Given the description of an element on the screen output the (x, y) to click on. 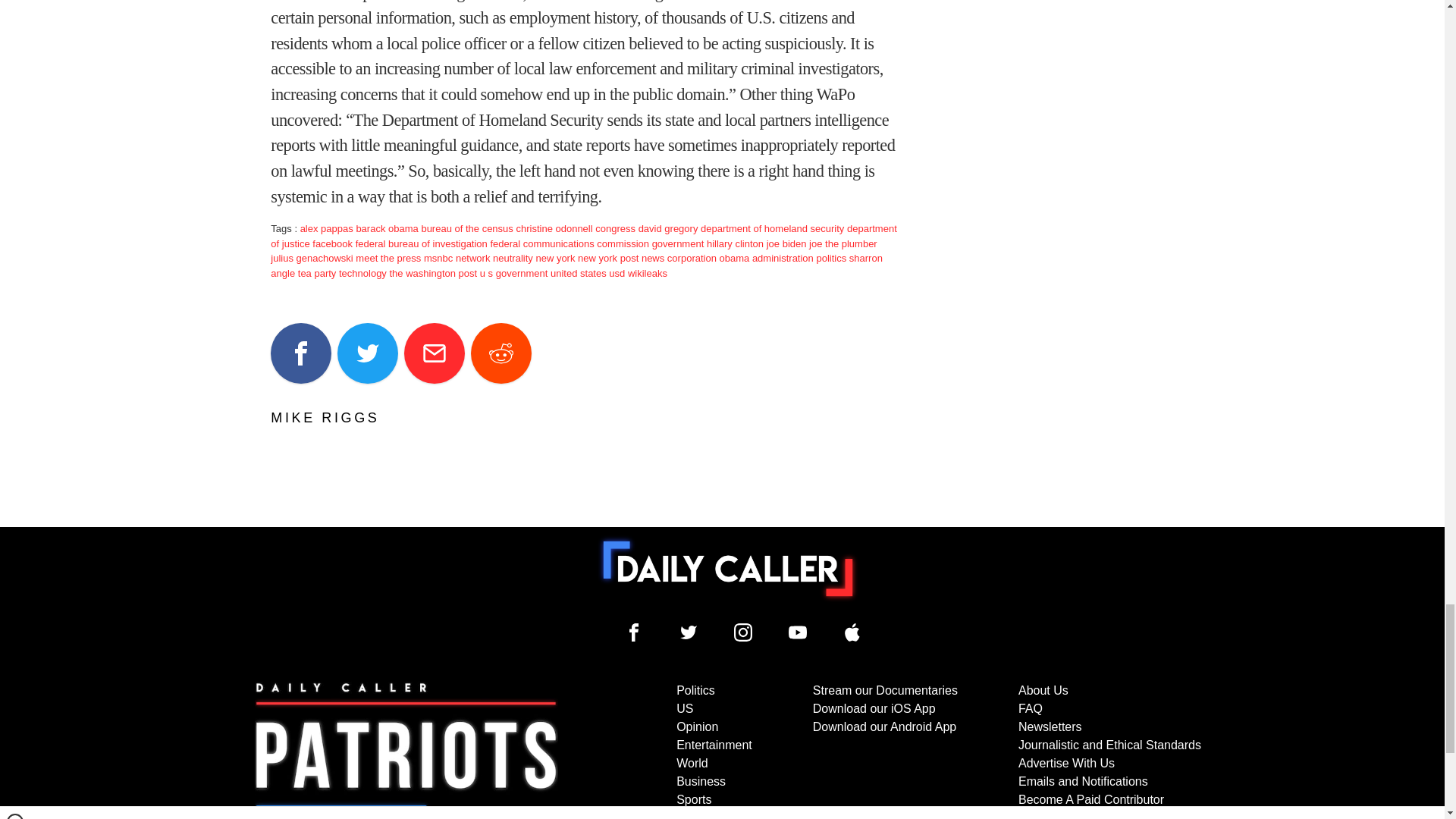
Daily Caller Facebook (633, 632)
To home page (727, 568)
Daily Caller YouTube (797, 632)
Daily Caller YouTube (852, 632)
Daily Caller Instagram (742, 632)
Daily Caller Twitter (688, 632)
Subscribe to The Daily Caller (405, 750)
